Given the description of an element on the screen output the (x, y) to click on. 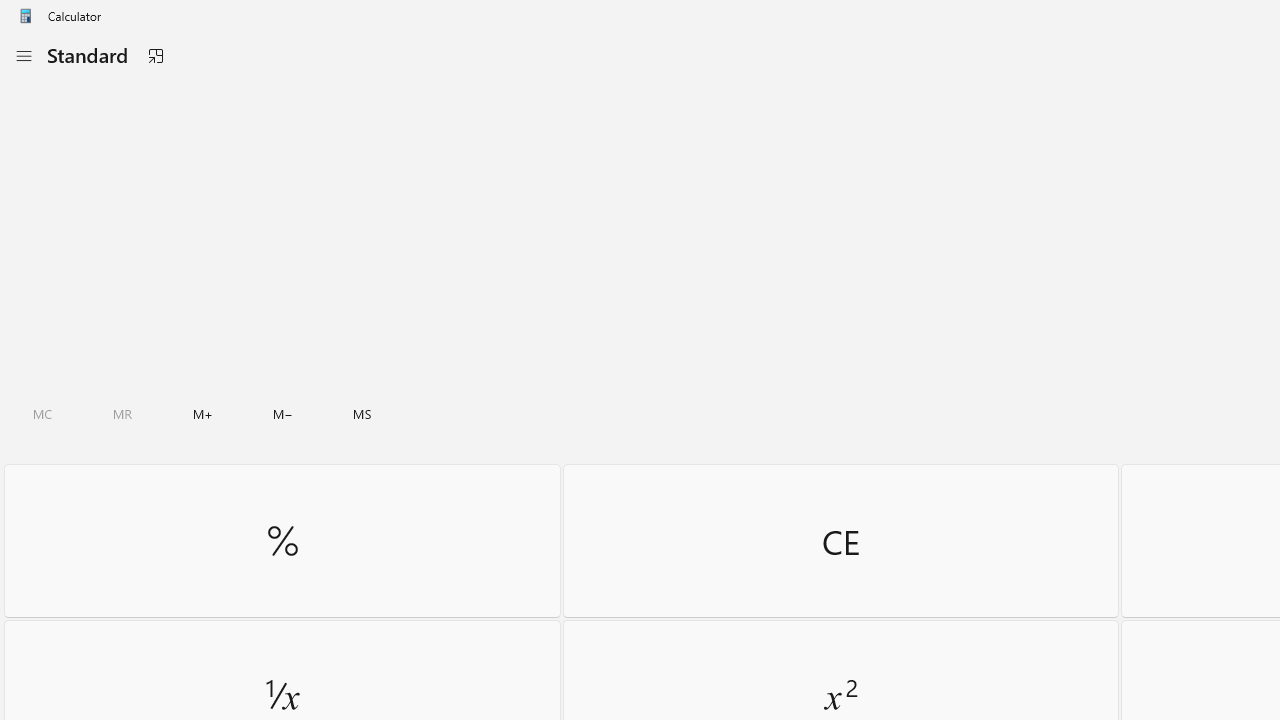
Clear entry (840, 540)
Memory store (362, 414)
Open Navigation (23, 56)
Memory subtract (283, 414)
Keep on top (155, 56)
Clear all memory (42, 414)
Memory add (202, 414)
Percent (281, 540)
Memory recall (123, 414)
